Given the description of an element on the screen output the (x, y) to click on. 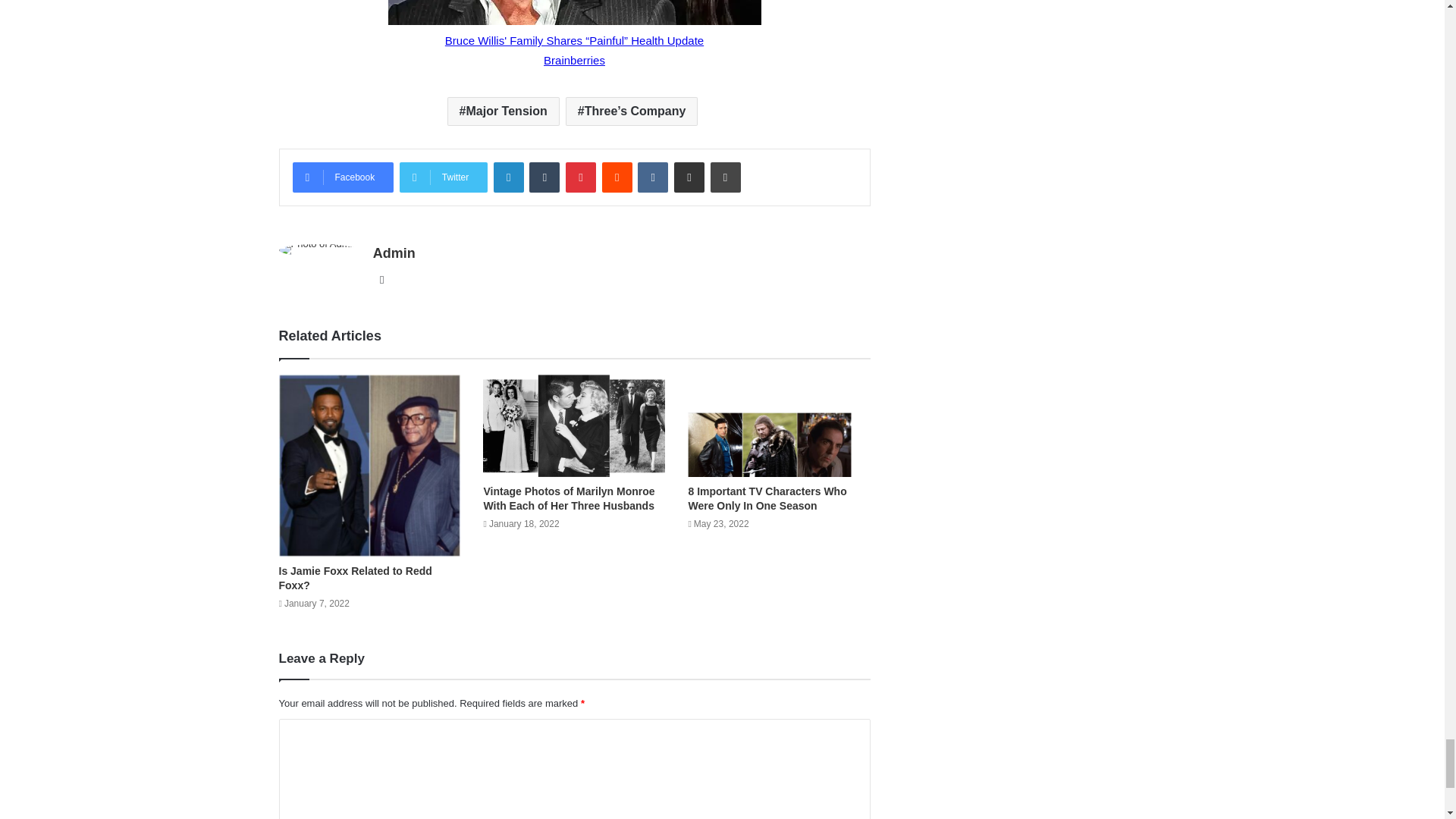
Facebook (343, 177)
VKontakte (652, 177)
Reddit (616, 177)
Pinterest (580, 177)
Facebook (343, 177)
8 Important TV Characters Who Were Only In One Season (766, 498)
Print (725, 177)
Share via Email (689, 177)
Website (381, 280)
Reddit (616, 177)
Pinterest (580, 177)
LinkedIn (508, 177)
VKontakte (652, 177)
Twitter (442, 177)
